Given the description of an element on the screen output the (x, y) to click on. 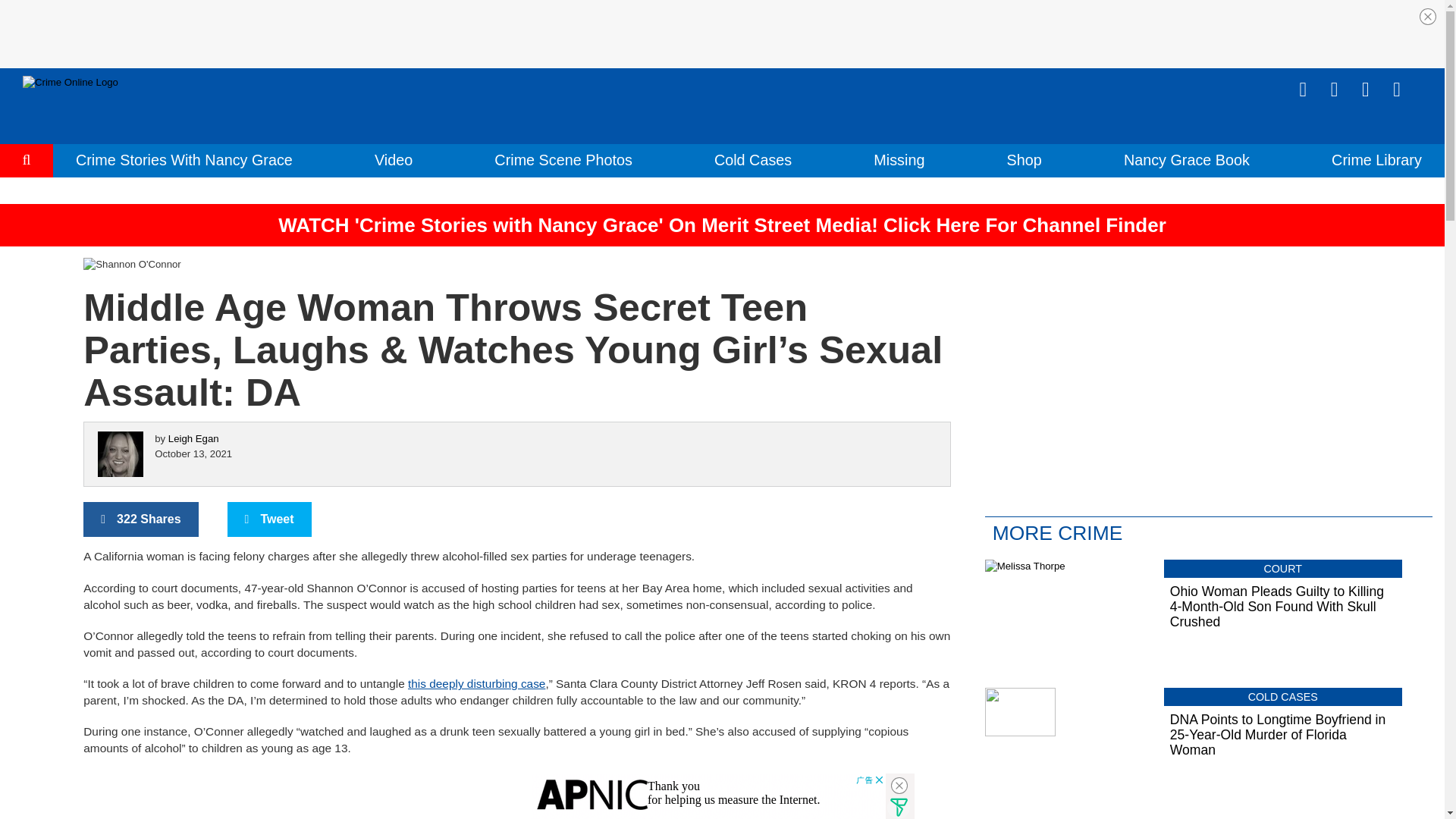
Cold Cases (753, 159)
3rd party ad content (722, 33)
Crime Stories With Nancy Grace (183, 159)
Nancy Grace Book (1186, 159)
Missing (898, 159)
Crime Library (1377, 159)
Leigh Egan (193, 438)
Tweet (269, 519)
Shop (1024, 159)
Video (393, 159)
Posts by Leigh Egan (193, 438)
322 Shares (140, 519)
this deeply disturbing case (475, 683)
October 13, 2021 (192, 453)
3rd party ad content (708, 796)
